Given the description of an element on the screen output the (x, y) to click on. 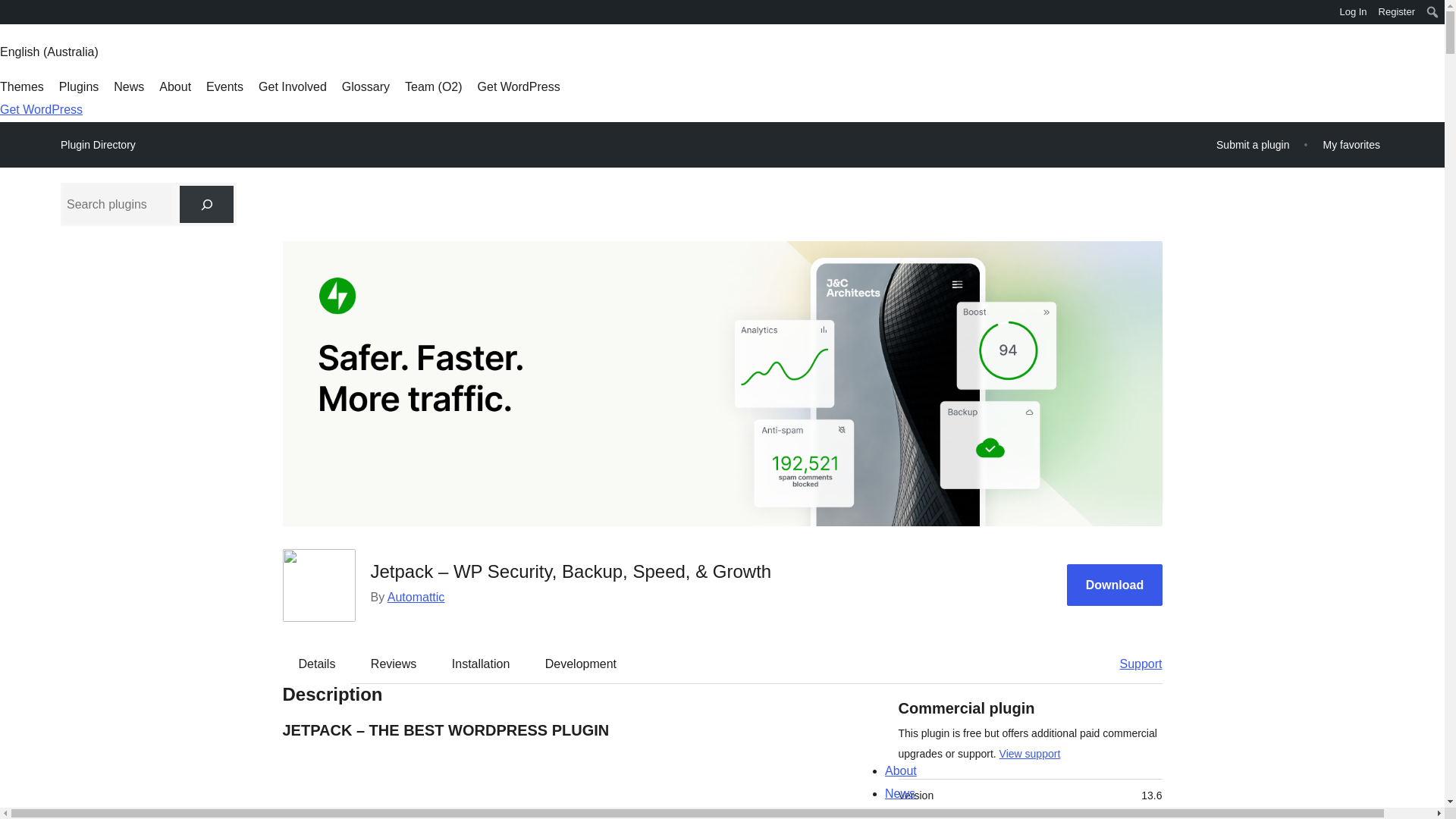
Automattic (416, 596)
Installation (480, 664)
About (174, 87)
Details (316, 664)
Support (1132, 664)
Download (1114, 585)
Get WordPress (41, 109)
Reviews (392, 664)
Plugin Directory (97, 144)
Themes (21, 87)
Get Involved (292, 87)
WordPress.org (10, 10)
Search (16, 13)
News (128, 87)
Get WordPress (518, 87)
